Given the description of an element on the screen output the (x, y) to click on. 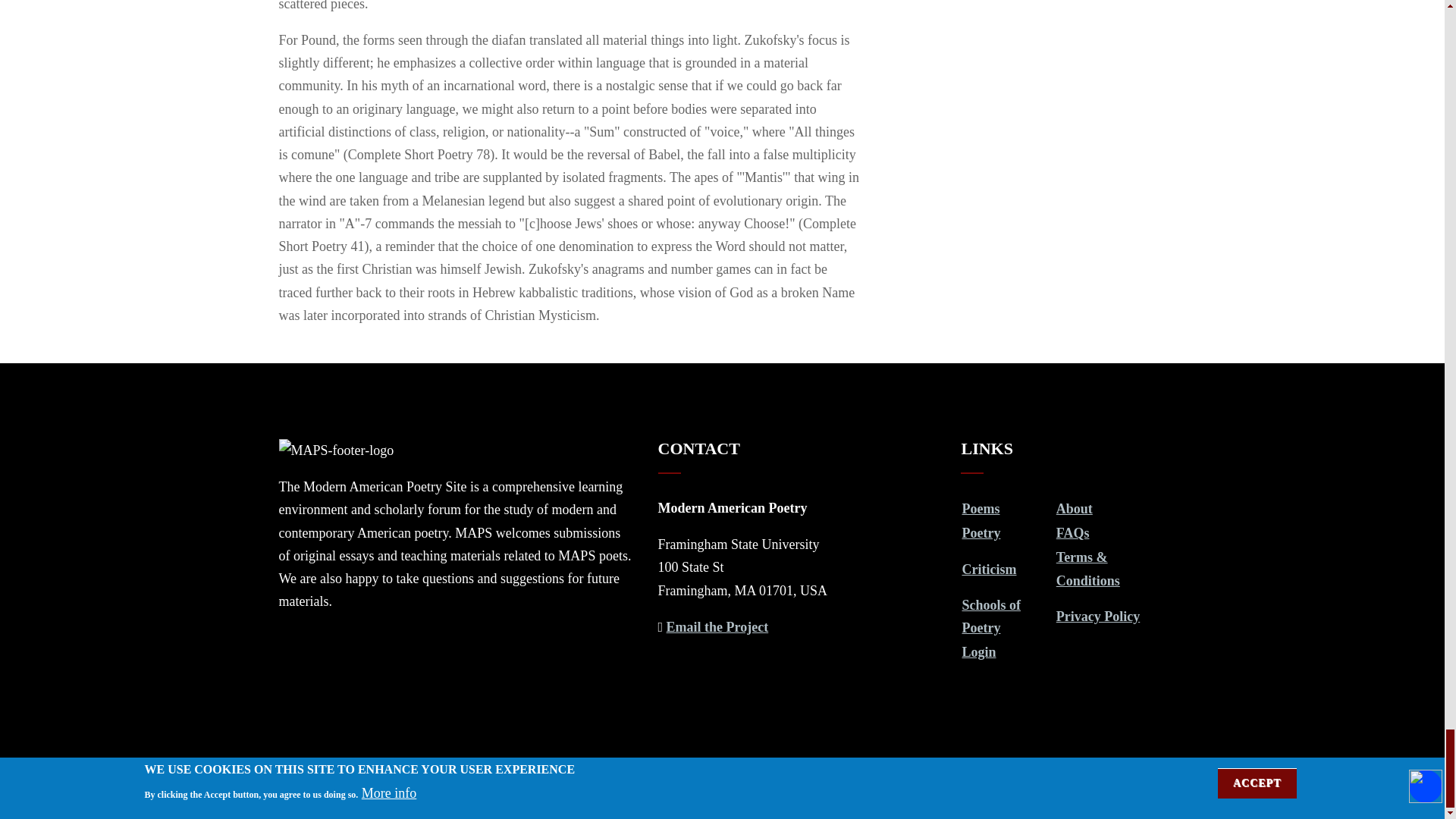
Privacy Policy (1098, 616)
Schools of Poetry (990, 616)
About (1075, 508)
Poetry (980, 532)
Login (977, 652)
Poems (979, 508)
FAQs (1073, 532)
Email the Project (717, 626)
Criticism (988, 569)
